Given the description of an element on the screen output the (x, y) to click on. 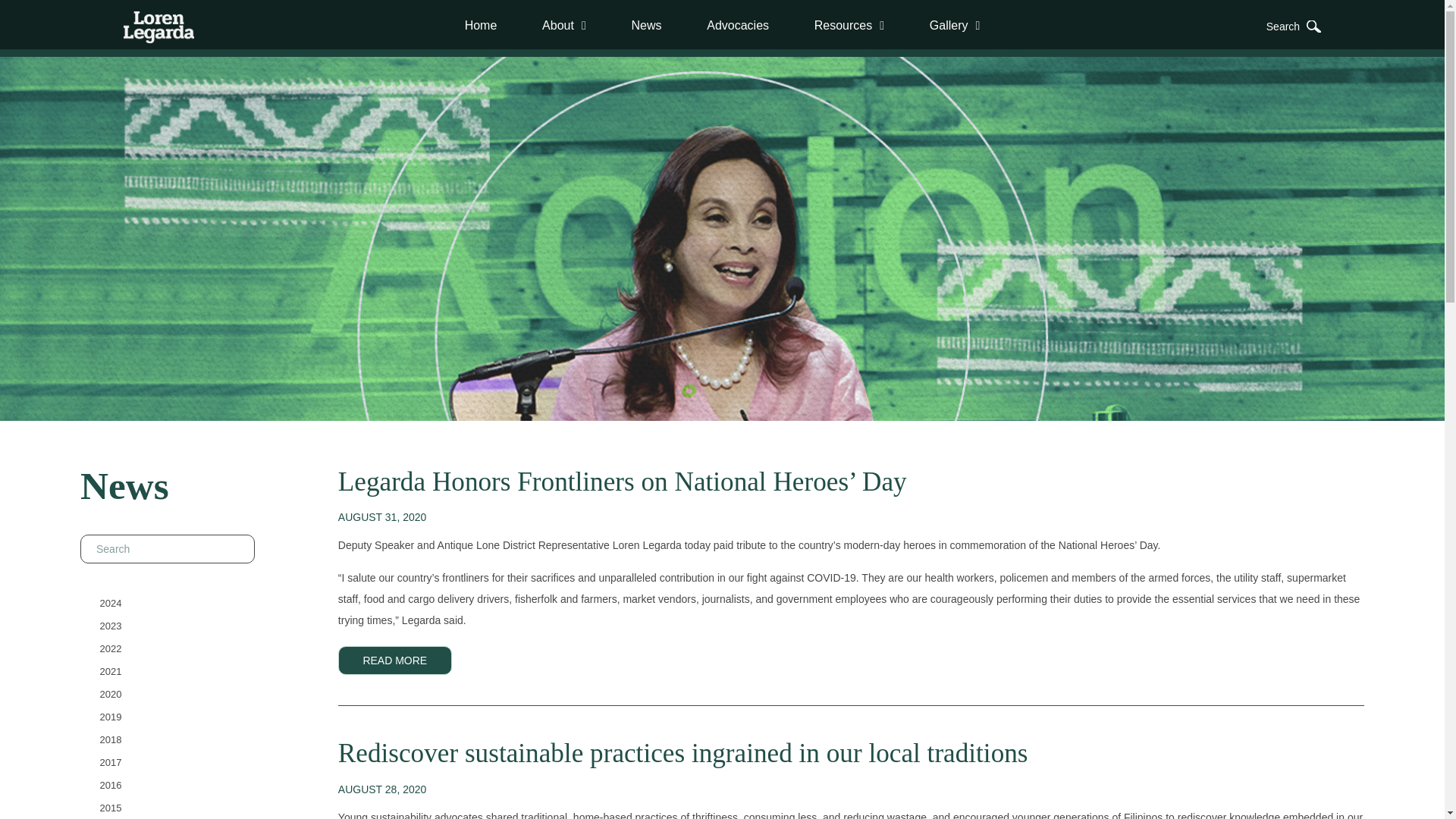
News (646, 25)
Home (480, 25)
Gallery (954, 25)
Advocacies (737, 25)
2023 (110, 624)
2022 (110, 647)
2024 (110, 601)
About (563, 25)
Resources (849, 25)
